Given the description of an element on the screen output the (x, y) to click on. 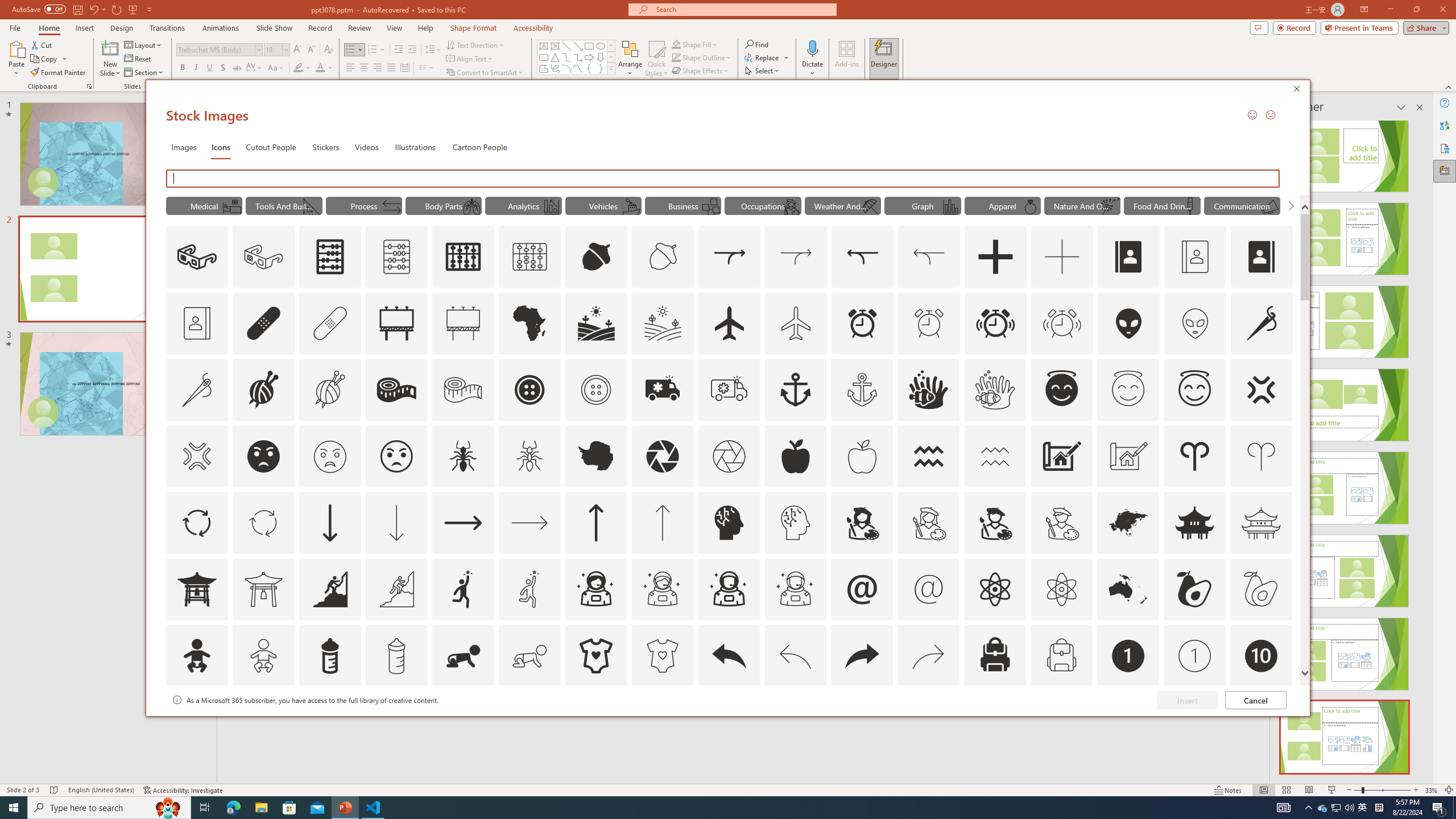
AutomationID: Icons_Australia (1128, 588)
AutomationID: Icons_AlterationsTailoring_M (196, 389)
AutomationID: Icons_Back_LTR (729, 655)
AutomationID: Icons_AlterationsTailoring3_M (595, 389)
AutomationID: Icons_AngerSymbol_M (196, 455)
AutomationID: Icons_AngryFace_Outline (395, 455)
